Given the description of an element on the screen output the (x, y) to click on. 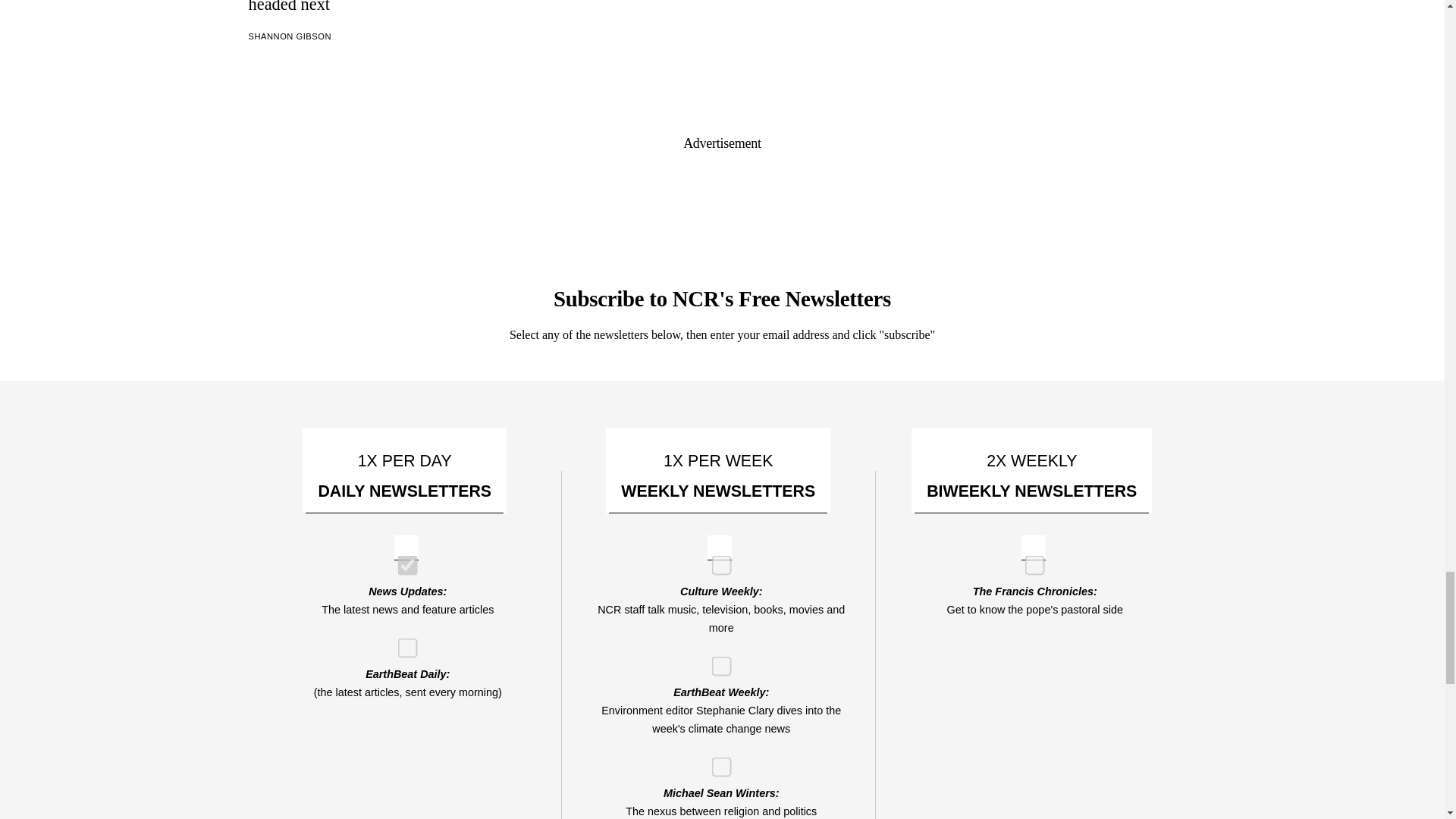
3b77a4581e (715, 762)
e536af3ae2 (715, 560)
f86221b965 (402, 560)
efa1b974a2 (402, 643)
ef6500f2d3 (715, 661)
9b73e2ca65 (1030, 560)
